Given the description of an element on the screen output the (x, y) to click on. 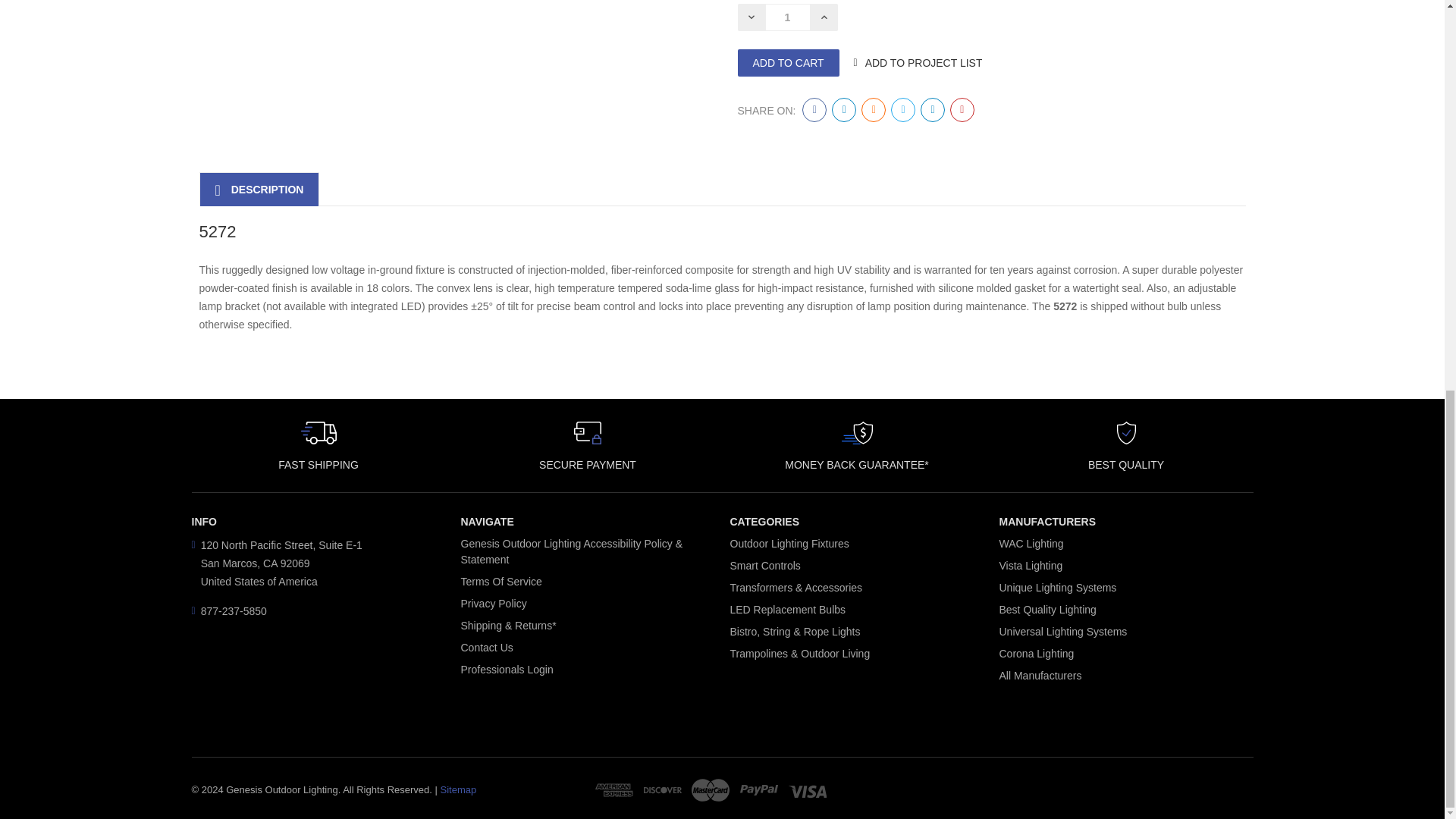
Add to Project list (923, 62)
1 (786, 17)
Add to Cart (787, 62)
